Given the description of an element on the screen output the (x, y) to click on. 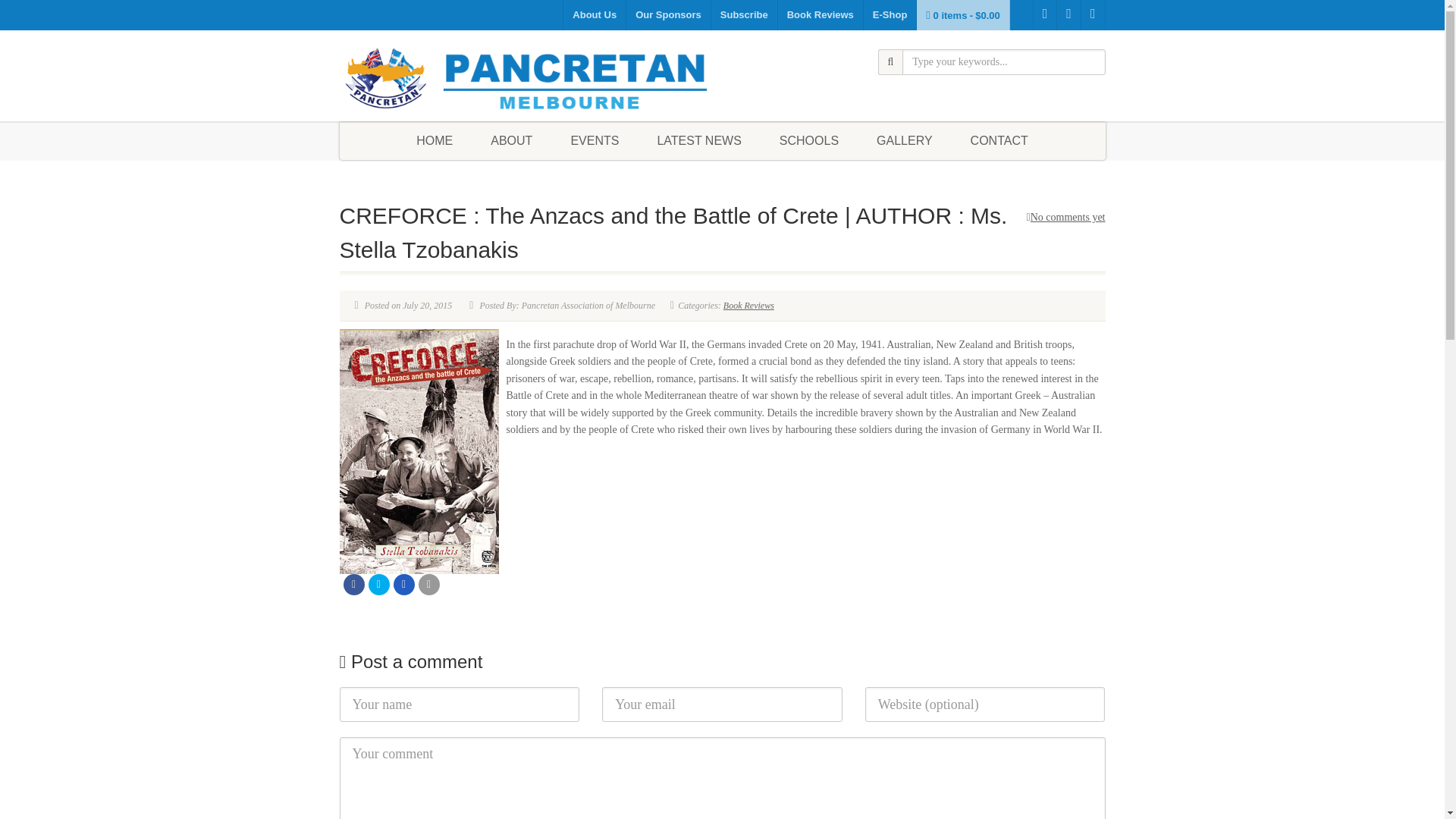
Logo (525, 78)
Tweet (379, 584)
Start shopping (963, 15)
Share on Facebook (353, 584)
ABOUT (511, 140)
Subscribe (744, 15)
HOME (434, 140)
Our Sponsors (668, 15)
Book Reviews (820, 15)
About Us (594, 15)
Email (429, 584)
E-Shop (890, 15)
